Given the description of an element on the screen output the (x, y) to click on. 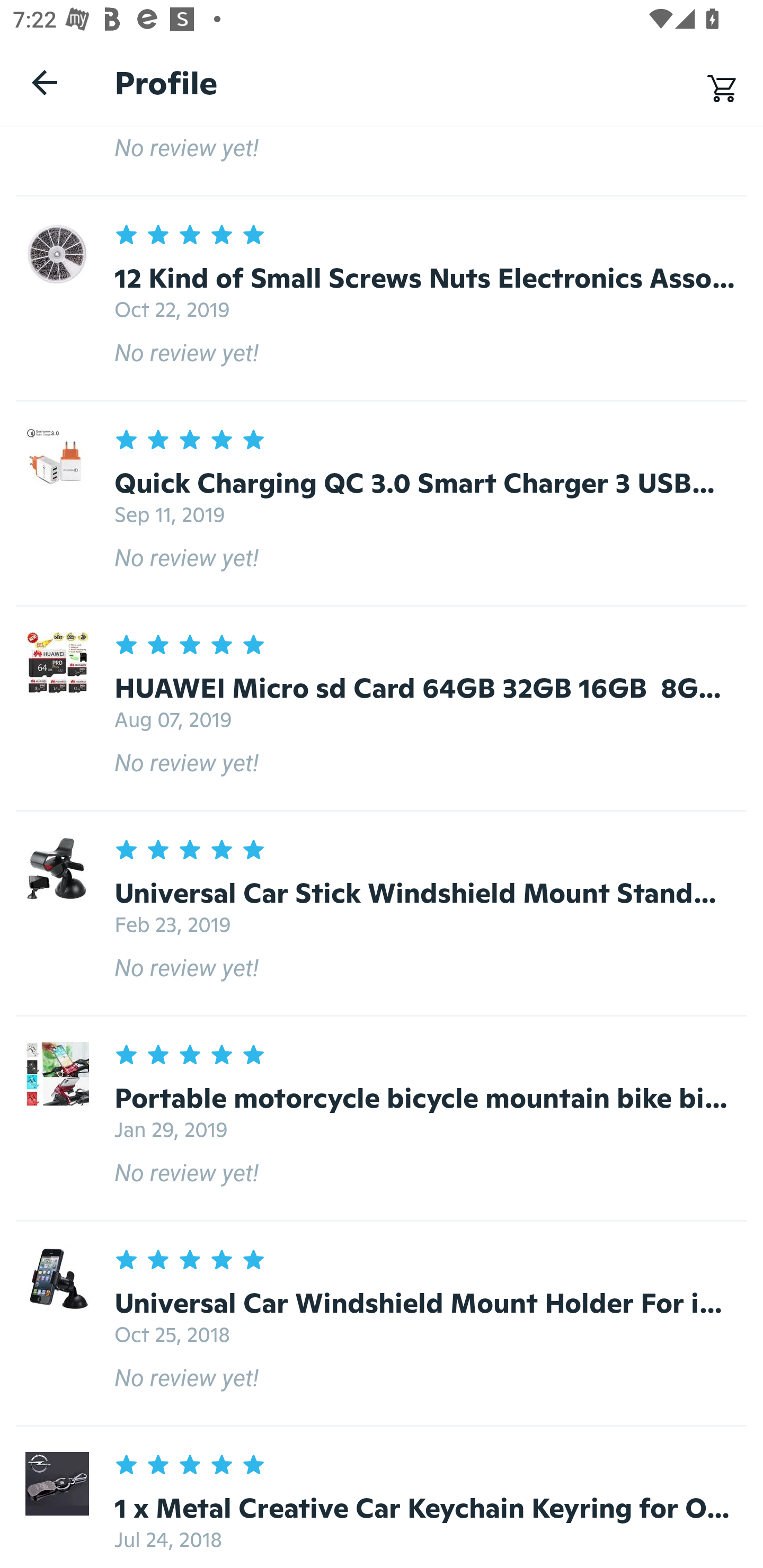
Navigate up (44, 82)
No review yet! (381, 161)
